Given the description of an element on the screen output the (x, y) to click on. 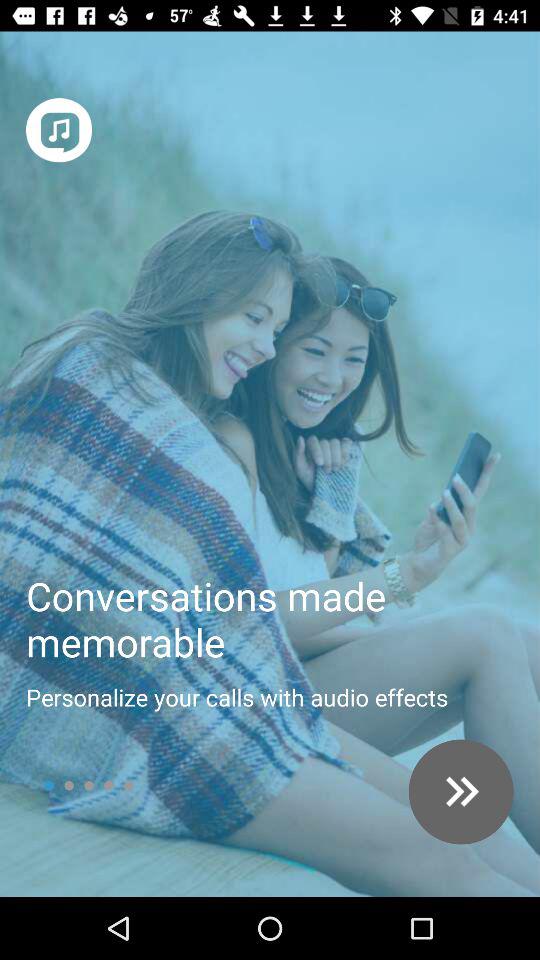
go to next (460, 791)
